Given the description of an element on the screen output the (x, y) to click on. 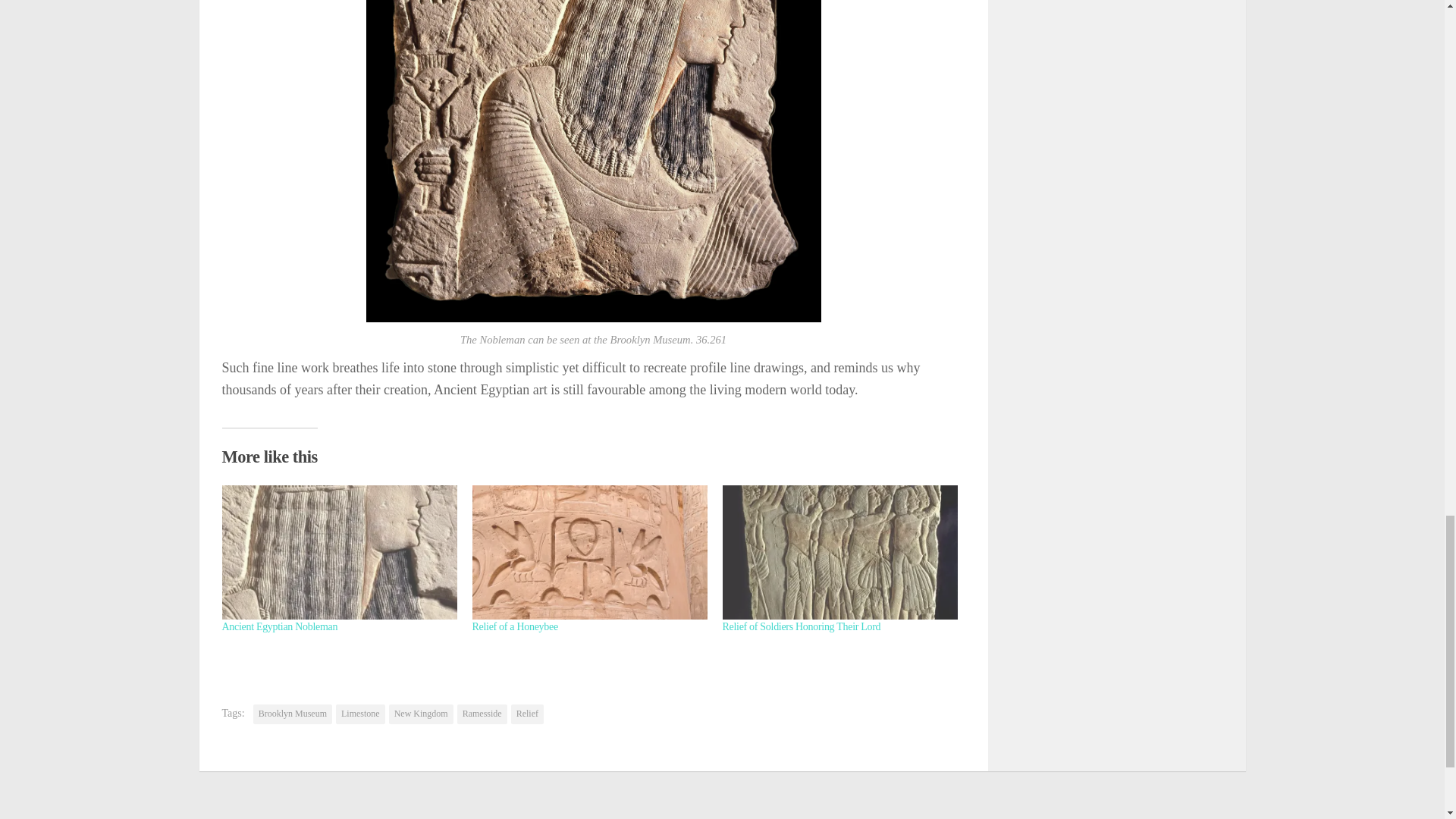
Relief of a Honeybee (514, 626)
Limestone (360, 713)
Ancient Egyptian Nobleman (279, 626)
Ramesside (481, 713)
Relief of Soldiers Honoring Their Lord (801, 626)
Relief of a Honeybee (514, 626)
Relief of Soldiers Honoring Their Lord (801, 626)
New Kingdom (420, 713)
Relief (527, 713)
Ancient Egyptian Nobleman (279, 626)
